Given the description of an element on the screen output the (x, y) to click on. 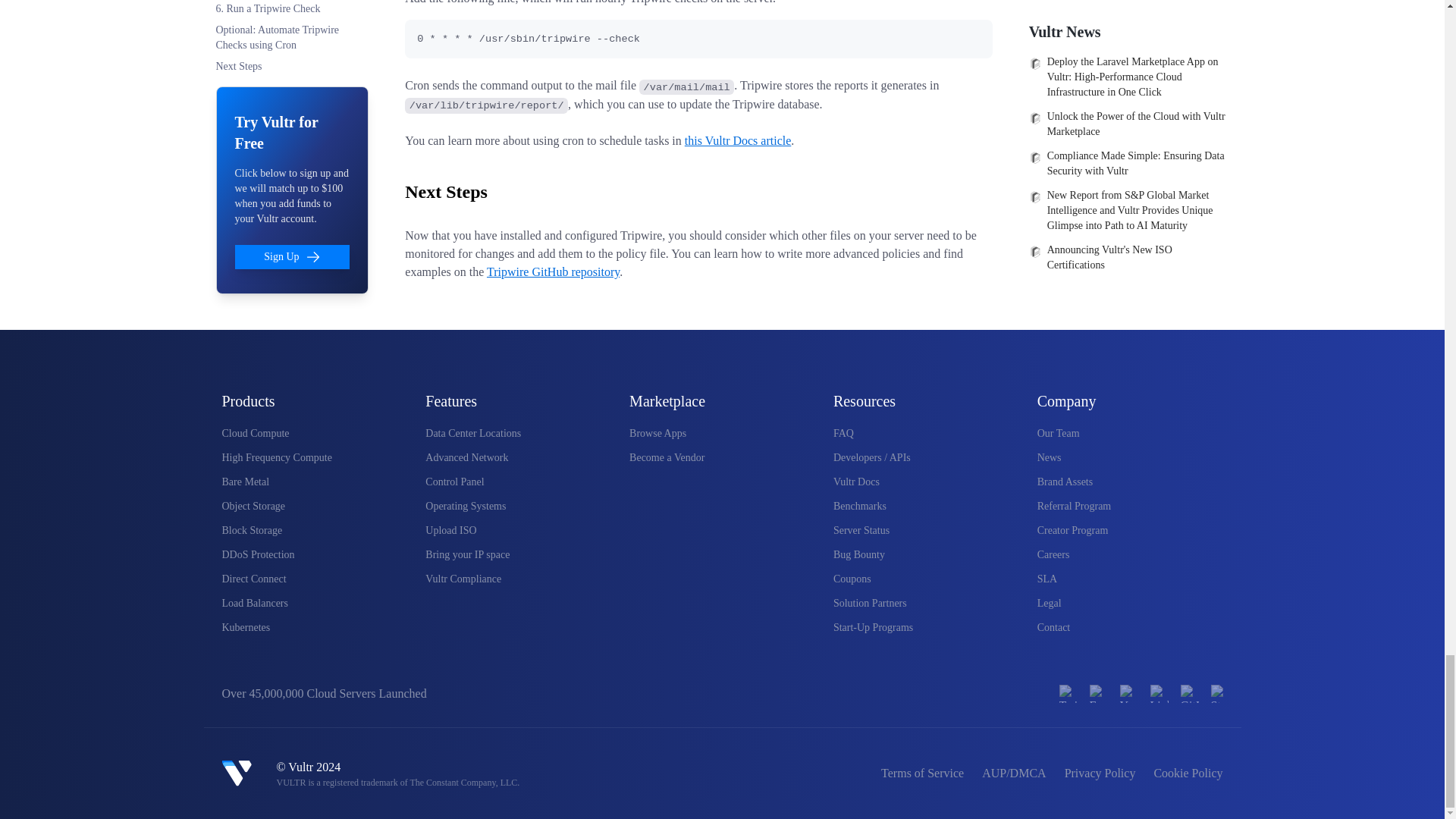
Tripwire GitHub repository (553, 271)
this Vultr Docs article (738, 140)
